Given the description of an element on the screen output the (x, y) to click on. 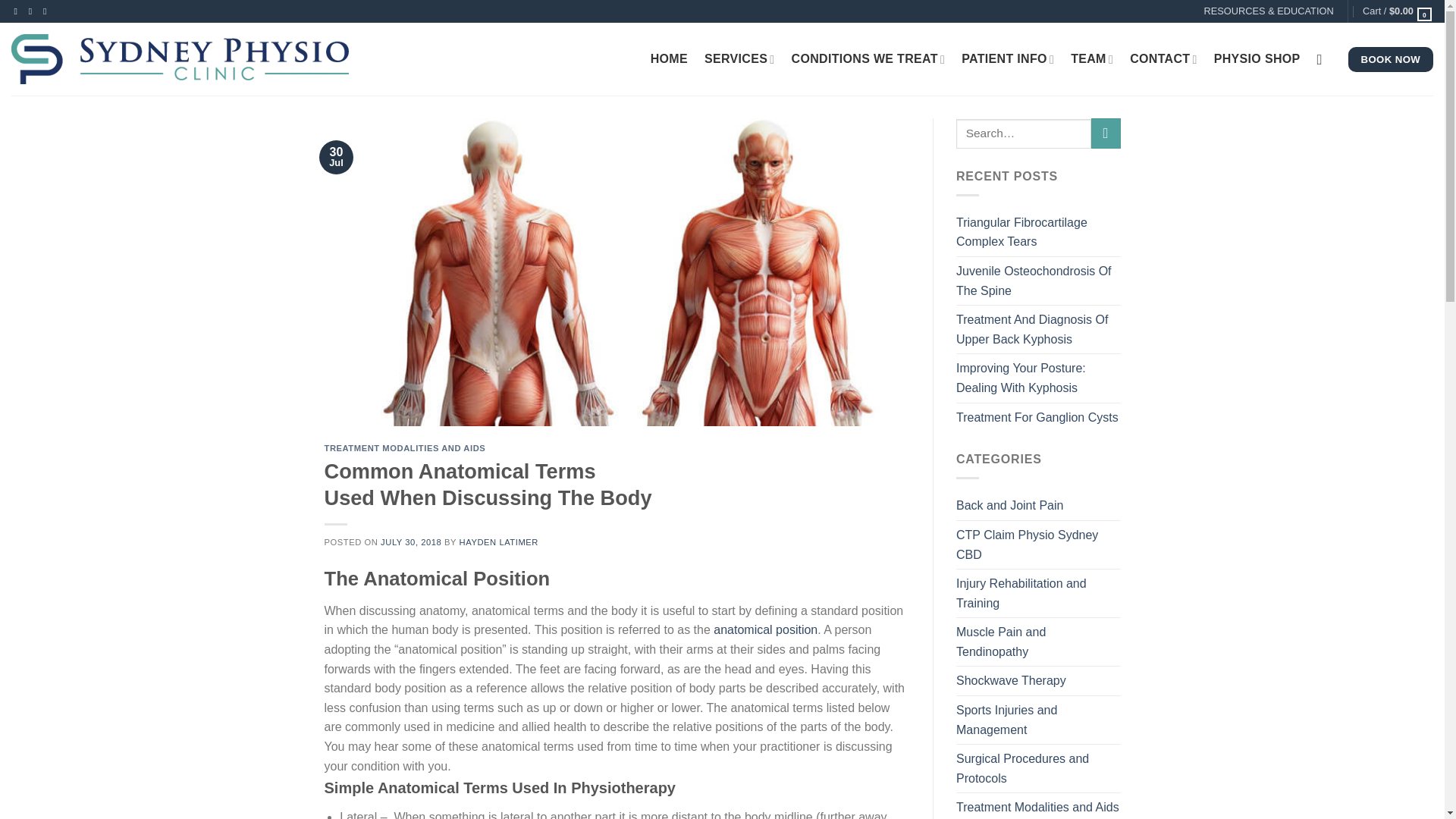
HOME (668, 58)
Sydney Physio Clinic (196, 59)
Cart (1397, 11)
CONDITIONS WE TREAT (868, 59)
SERVICES (739, 59)
